Given the description of an element on the screen output the (x, y) to click on. 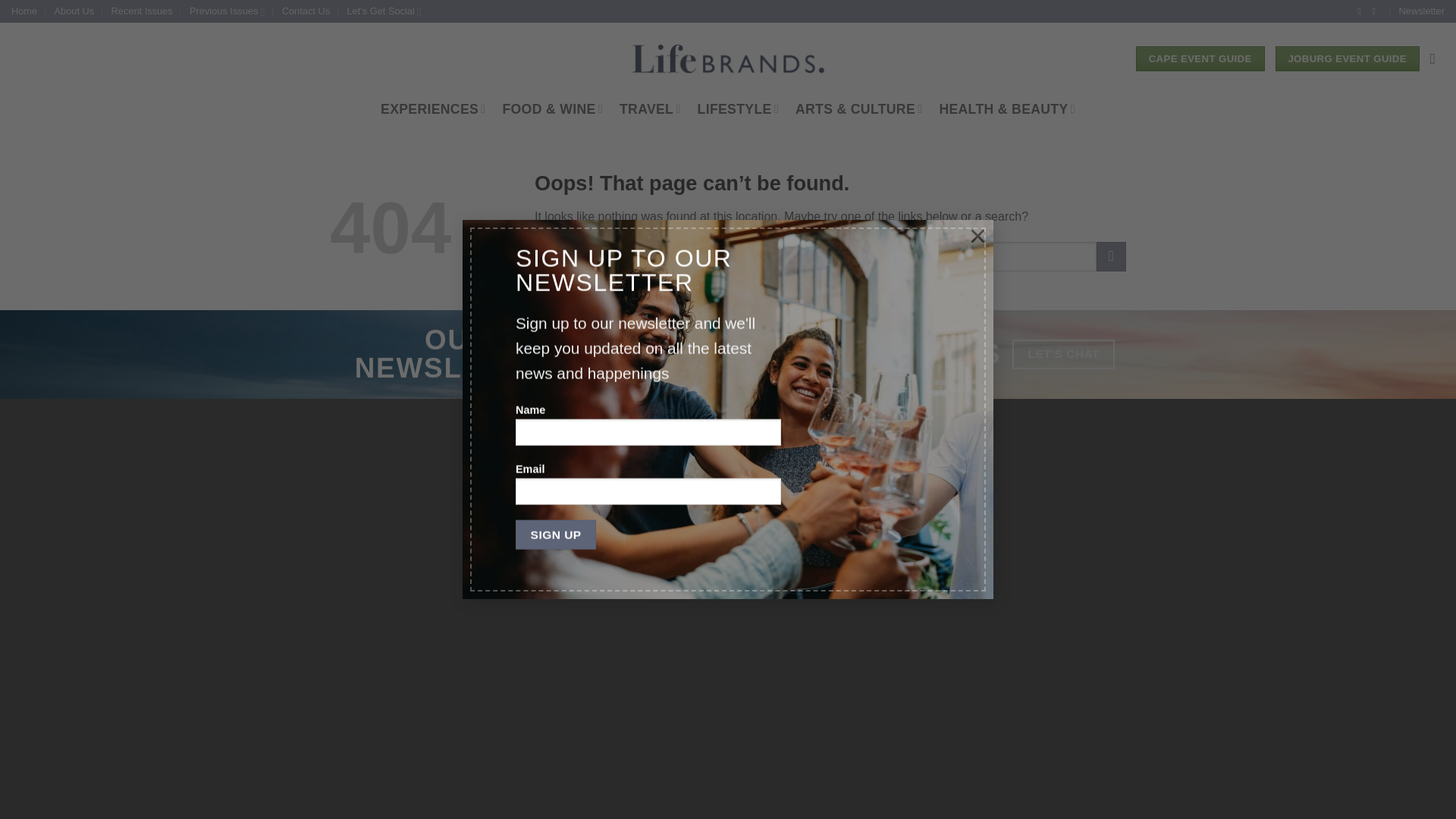
Sign up to our Newsletter (1421, 11)
CAPE EVENT GUIDE (1200, 58)
EXPERIENCES (432, 108)
TRAVEL (650, 108)
Recent Issues (142, 11)
LIFESTYLE (737, 108)
Previous Issues (226, 11)
JOBURG EVENT GUIDE (1347, 58)
Newsletter (1421, 11)
Home (24, 11)
About Us (74, 11)
Contact Us (306, 11)
